Given the description of an element on the screen output the (x, y) to click on. 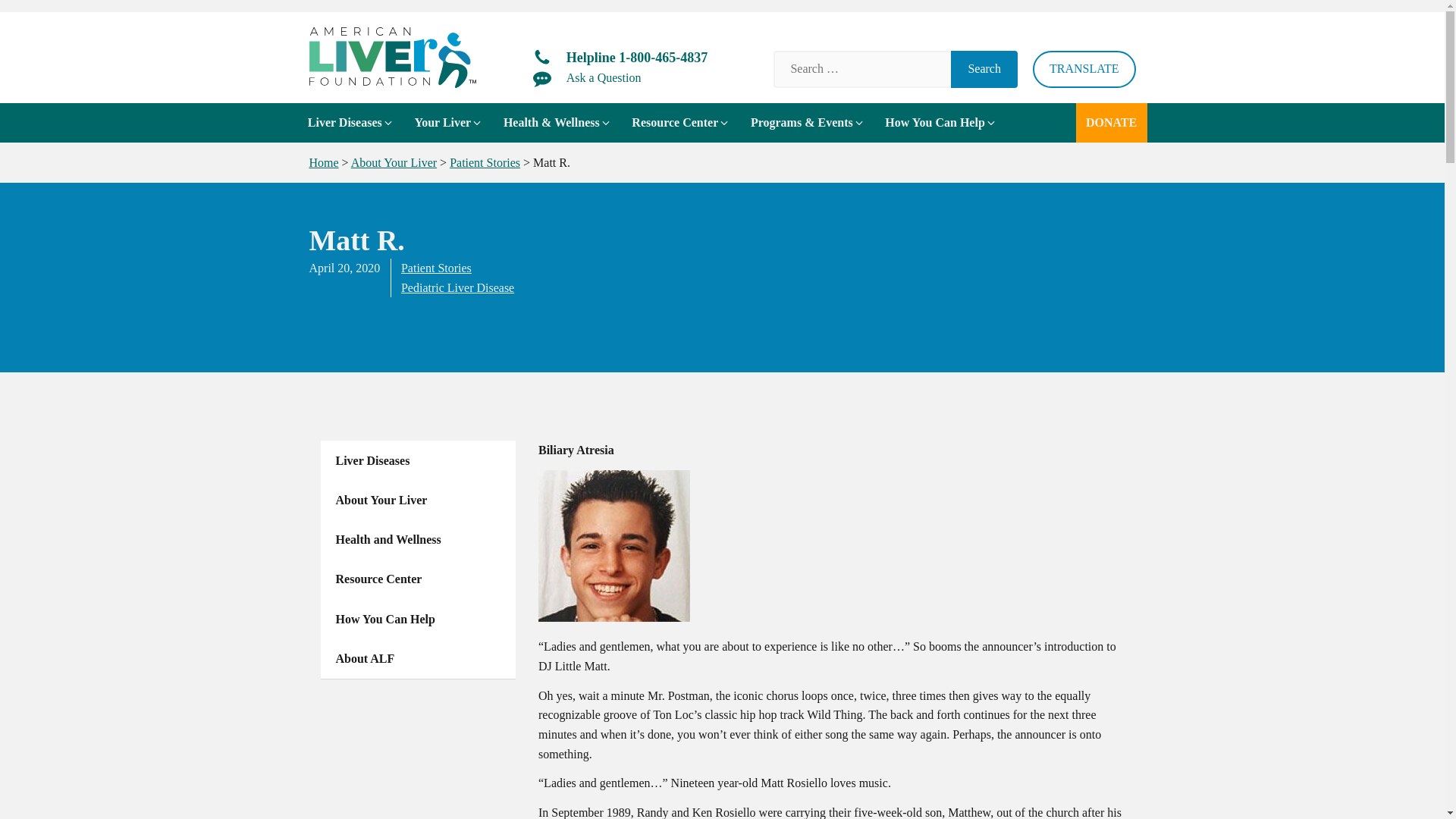
Ask a Question (587, 77)
Go to Patient Stories. (484, 162)
Search (983, 68)
Helpline 1-800-465-4837 (619, 57)
Go to American Liver Foundation. (323, 162)
TRANSLATE (1083, 68)
Go to About Your Liver. (393, 162)
Search (983, 68)
Liver Diseases (350, 122)
Search (983, 68)
